Given the description of an element on the screen output the (x, y) to click on. 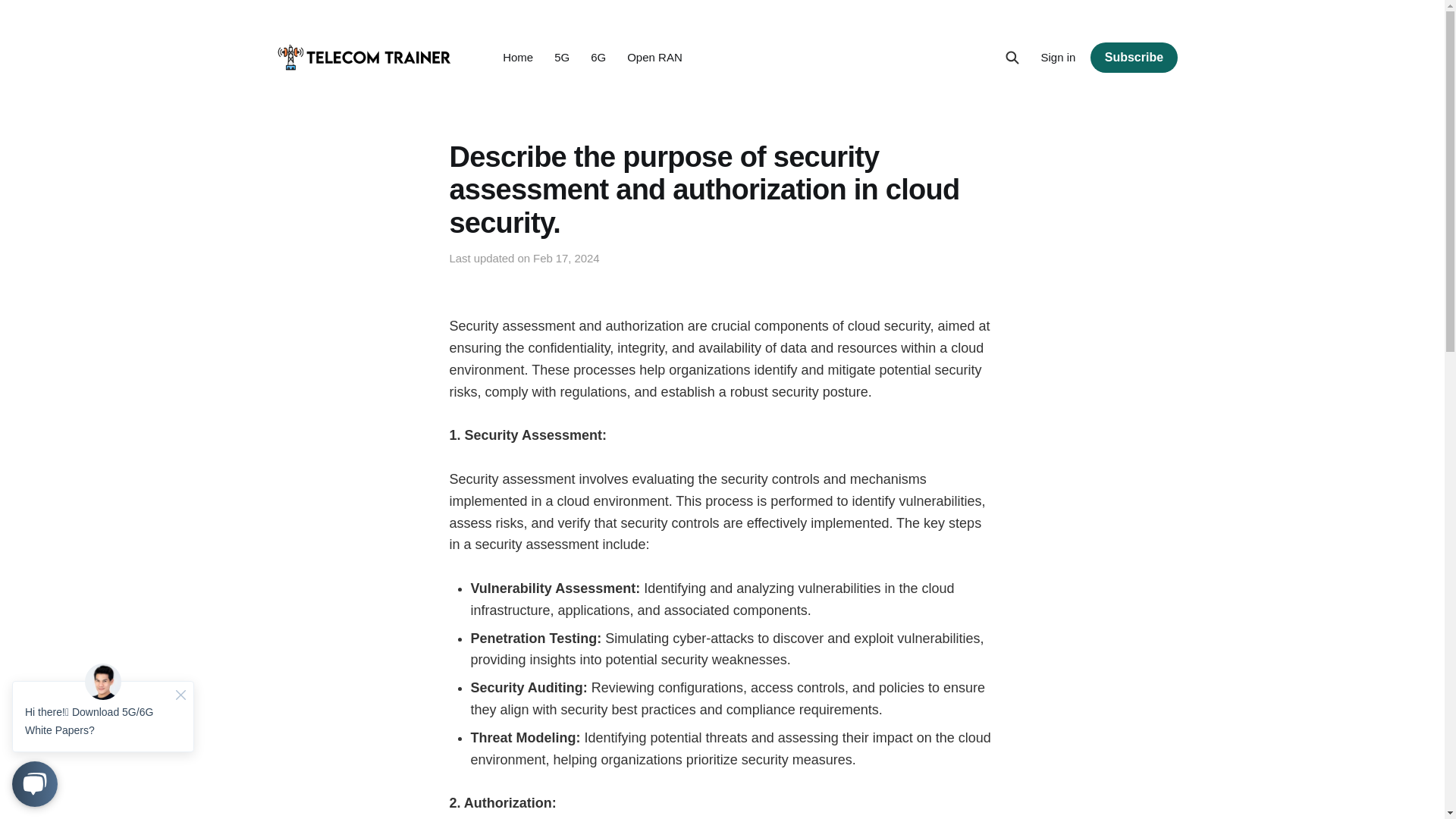
5G (561, 56)
Chat Widget (103, 734)
6G (598, 56)
Subscribe (1133, 57)
Sign in (1058, 57)
Open RAN (654, 56)
Home (517, 56)
